Given the description of an element on the screen output the (x, y) to click on. 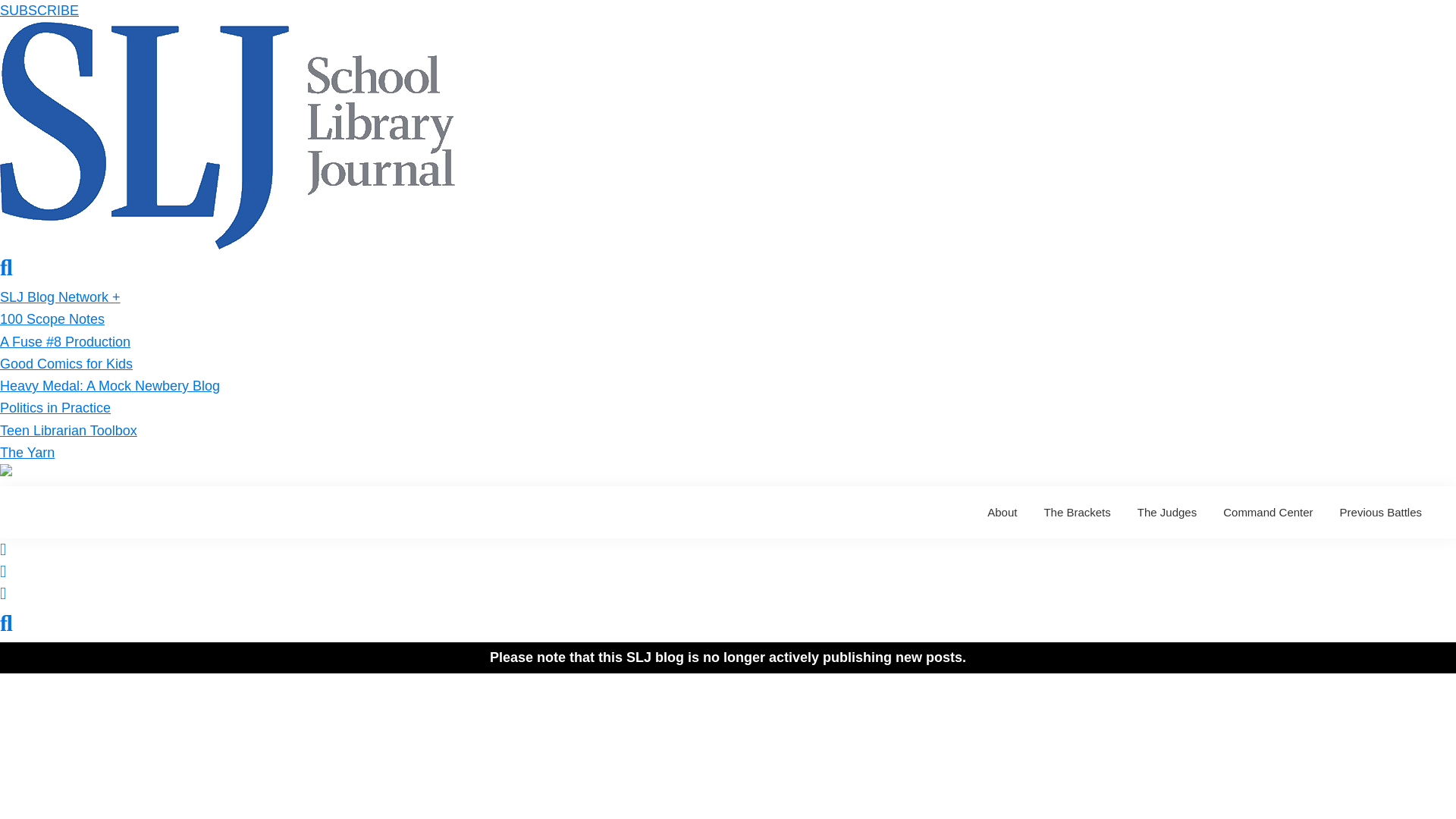
Command Center (1267, 512)
Politics in Practice (55, 407)
Good Comics for Kids (66, 363)
SUBSCRIBE (39, 10)
About (1001, 512)
The Judges (1166, 512)
The Yarn (27, 452)
100 Scope Notes (52, 319)
Teen Librarian Toolbox (68, 430)
The Brackets (1076, 512)
Heavy Medal: A Mock Newbery Blog (109, 385)
